Given the description of an element on the screen output the (x, y) to click on. 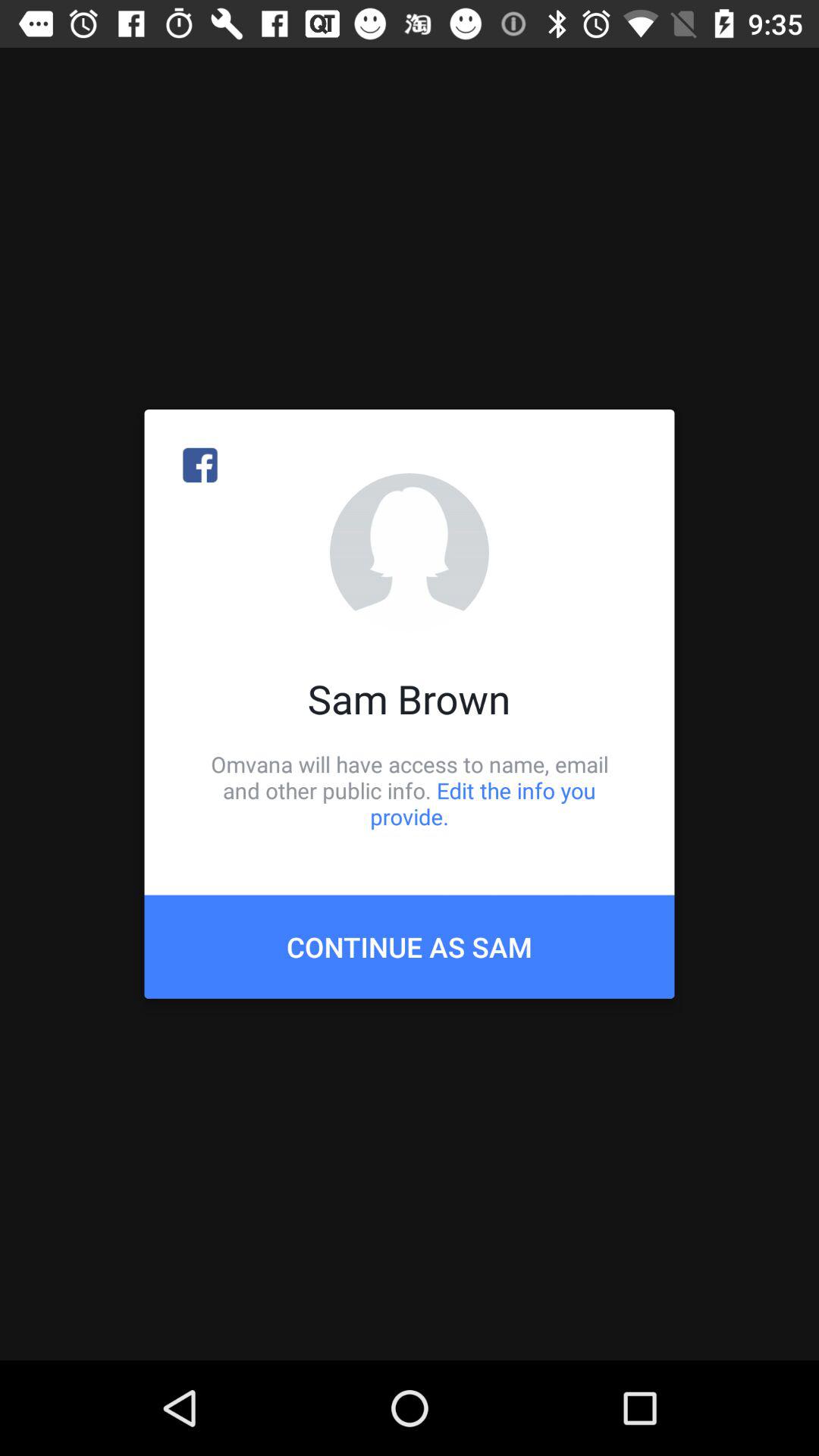
open omvana will have icon (409, 790)
